Given the description of an element on the screen output the (x, y) to click on. 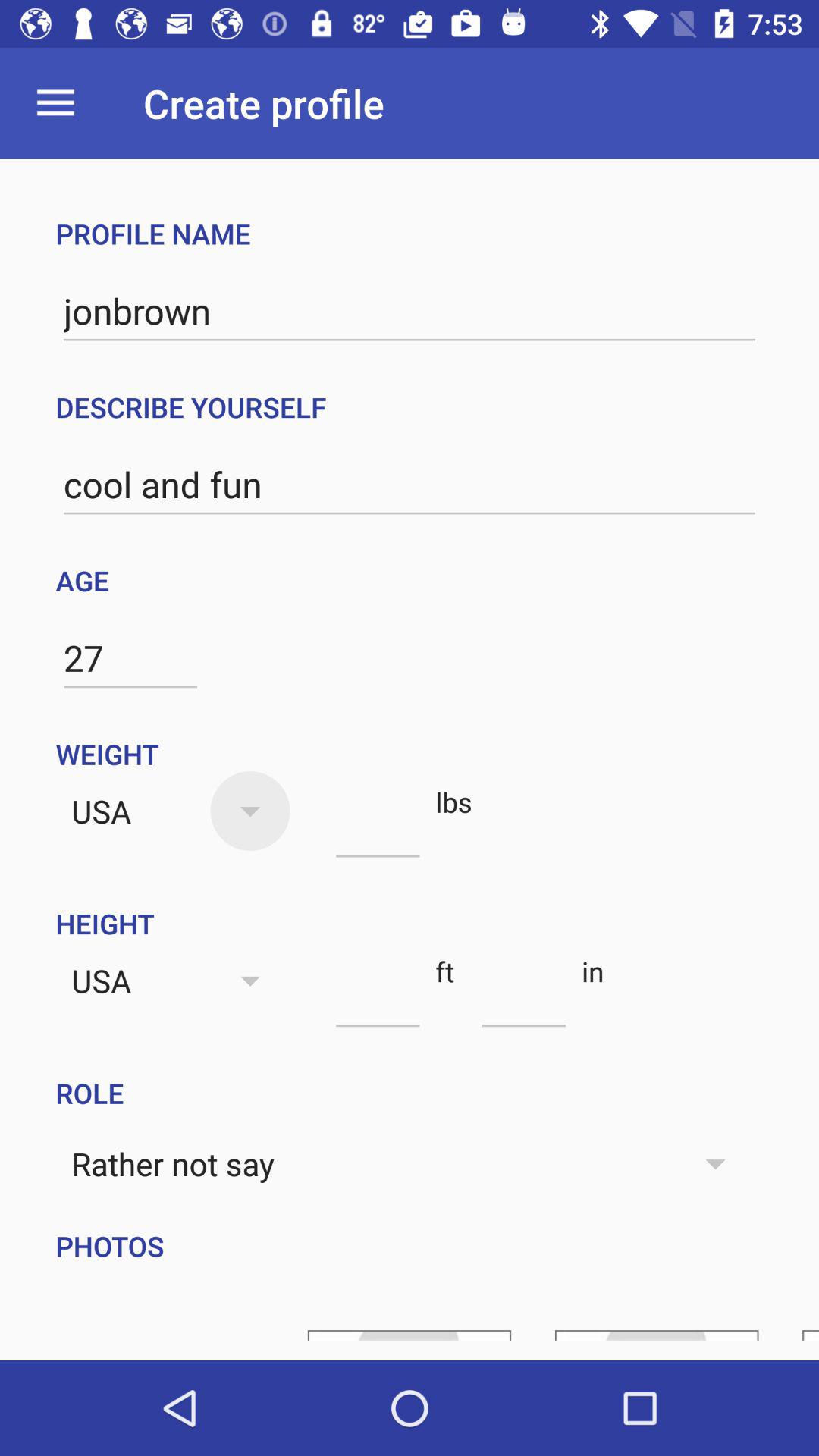
press the item next to usa (377, 830)
